Given the description of an element on the screen output the (x, y) to click on. 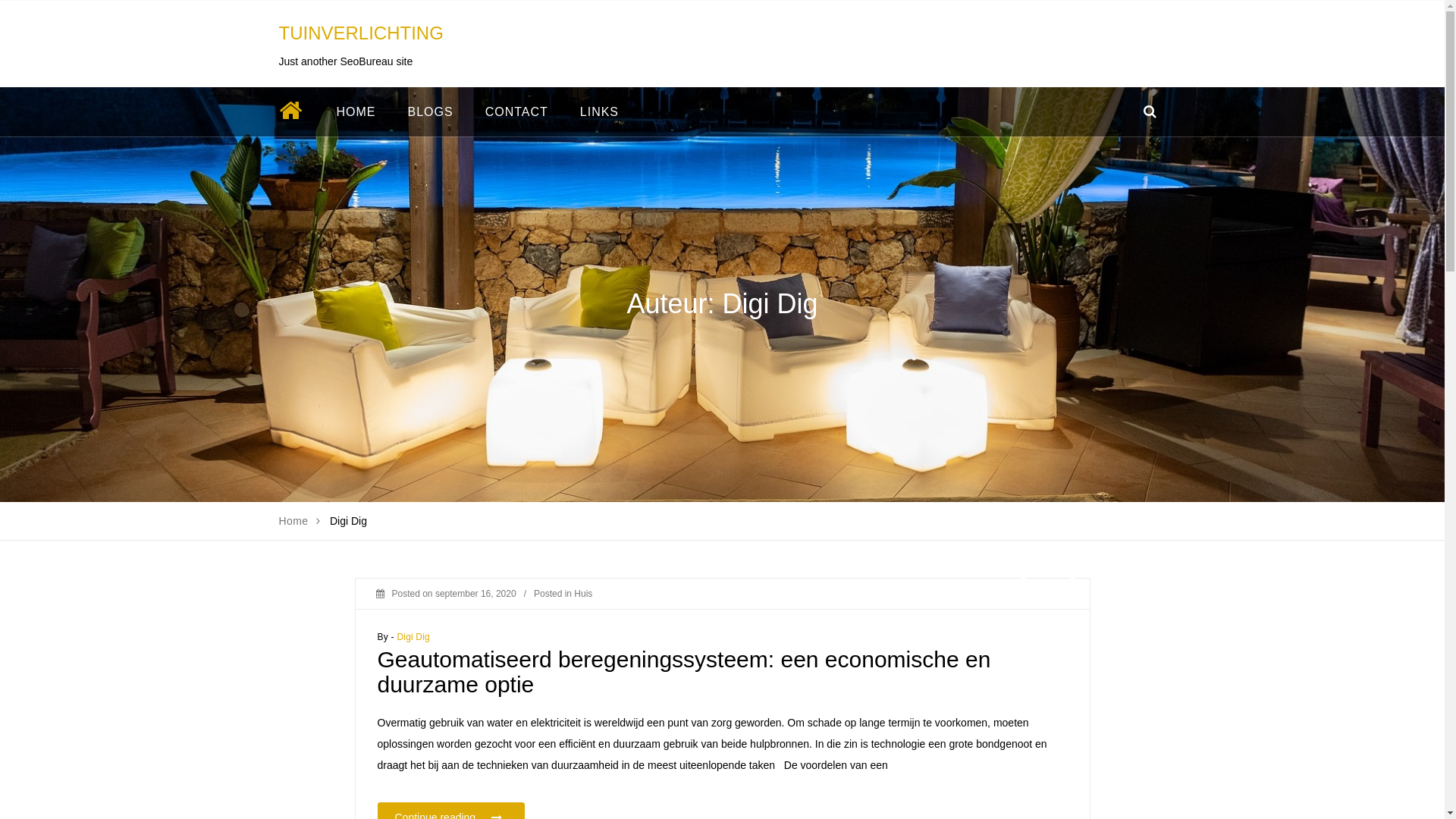
HOME Element type: text (355, 111)
Huis Element type: text (583, 593)
Digi Dig Element type: text (412, 636)
LINKS Element type: text (599, 111)
Home Element type: text (293, 520)
september 16, 2020 Element type: text (475, 593)
BLOGS Element type: text (429, 111)
search_icon Element type: hover (1148, 111)
TUINVERLICHTING Element type: text (361, 32)
CONTACT Element type: text (516, 111)
